Given the description of an element on the screen output the (x, y) to click on. 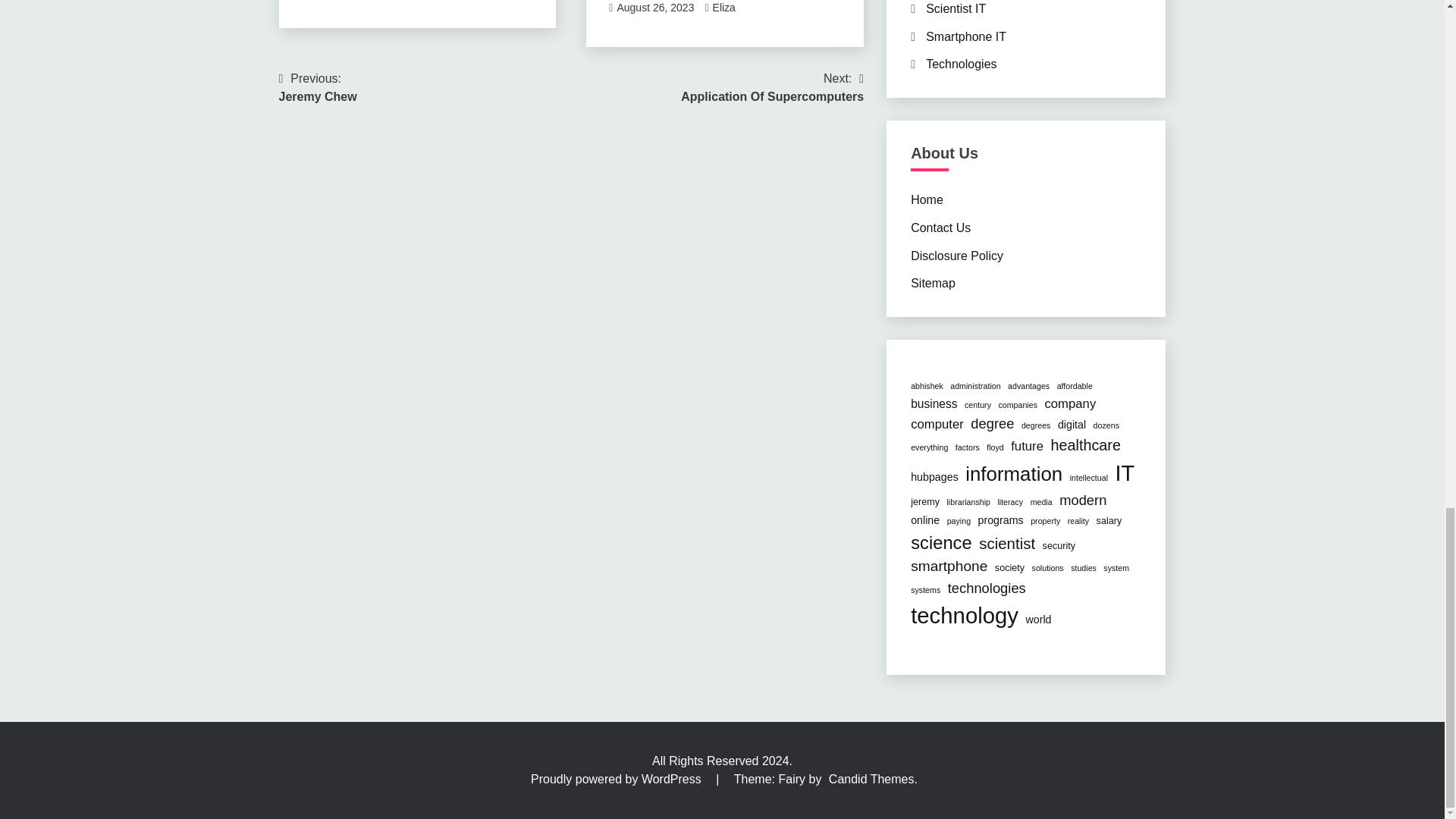
August 26, 2023 (654, 7)
Eliza (317, 87)
